Given the description of an element on the screen output the (x, y) to click on. 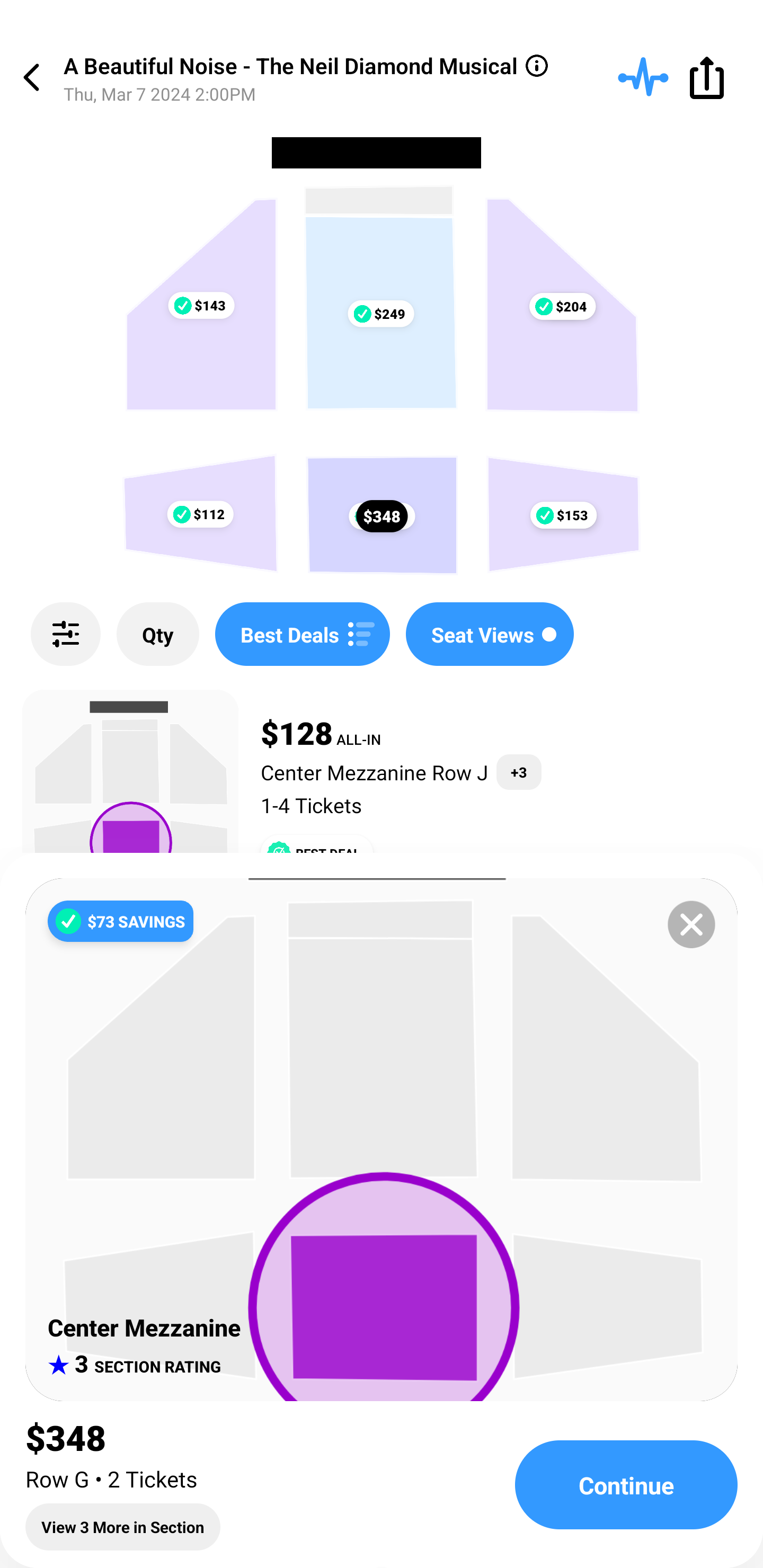
$249 (380, 313)
Qty (157, 634)
Best Deals (302, 634)
Seat Views (489, 634)
+3 (518, 772)
$73 SAVINGS (120, 921)
Continue (626, 1484)
View 3 More in Section (122, 1526)
